Given the description of an element on the screen output the (x, y) to click on. 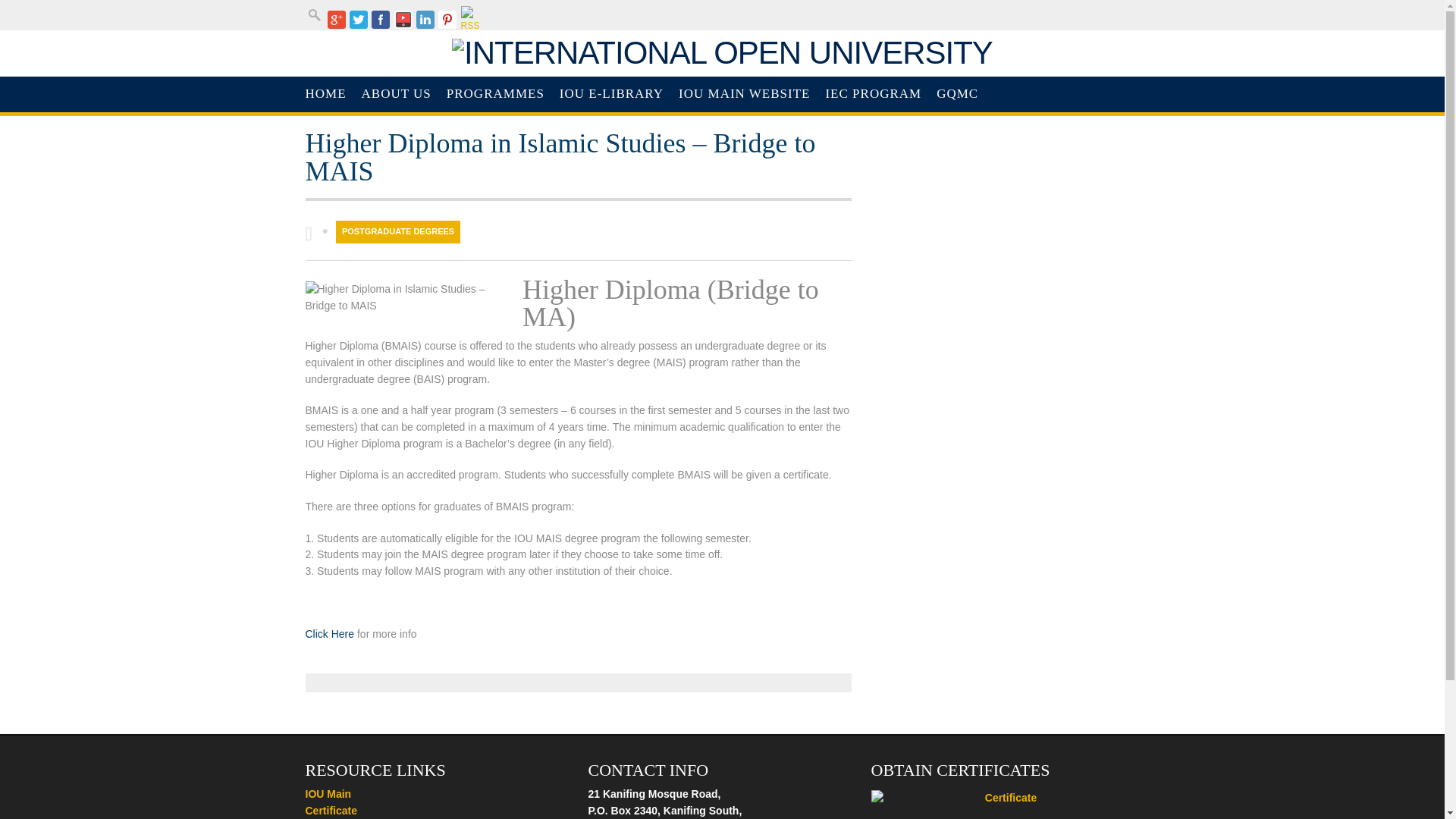
Pinterest (447, 19)
IOU E-Library (611, 94)
Home (325, 94)
IEC PROGRAM (872, 94)
Twitter (358, 19)
PROGRAMMES (495, 94)
About Us (396, 94)
Facebook (380, 19)
You Tube (403, 19)
LinkedIn (424, 19)
